Given the description of an element on the screen output the (x, y) to click on. 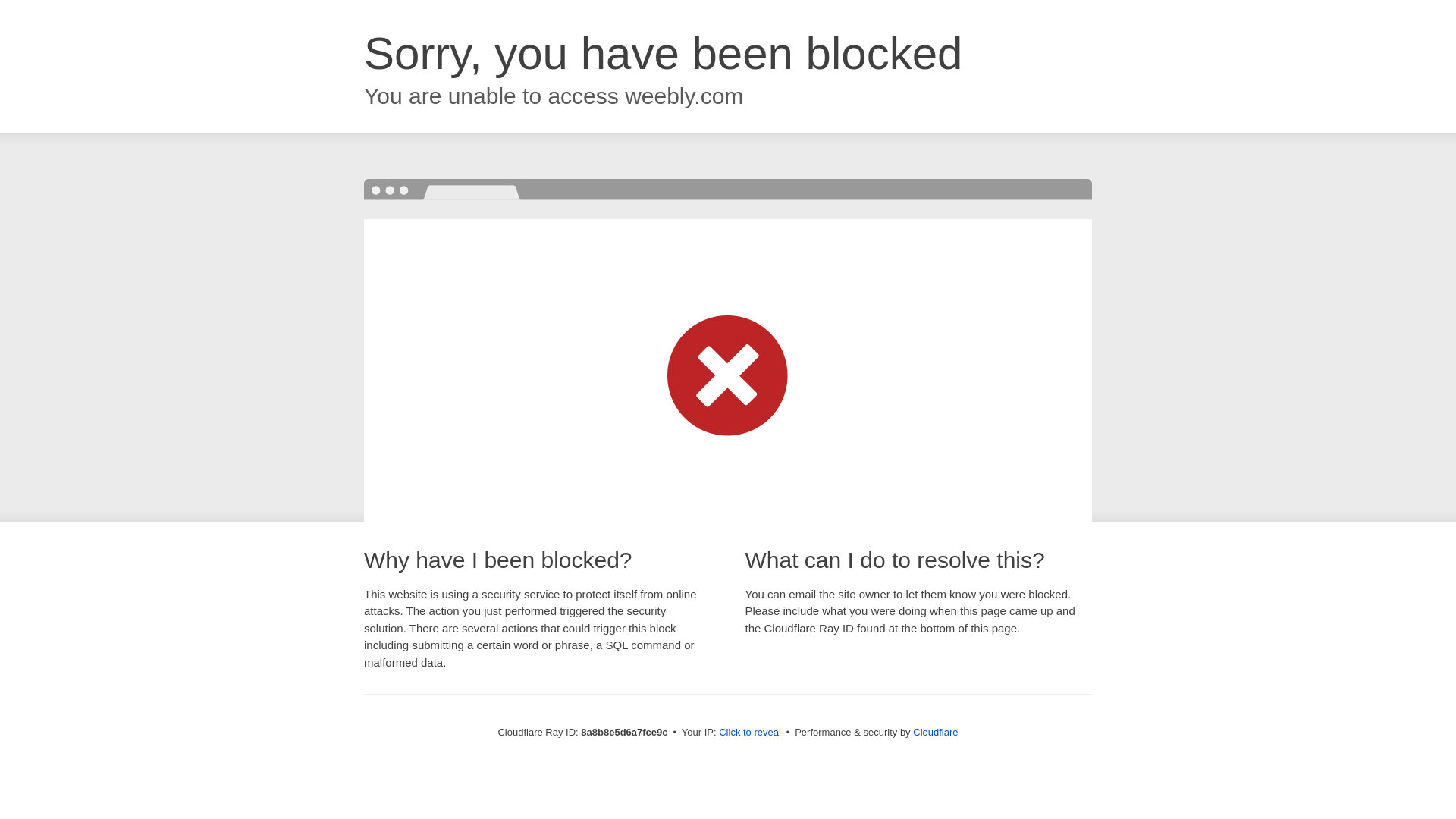
Click to reveal (749, 732)
Cloudflare (935, 731)
